Given the description of an element on the screen output the (x, y) to click on. 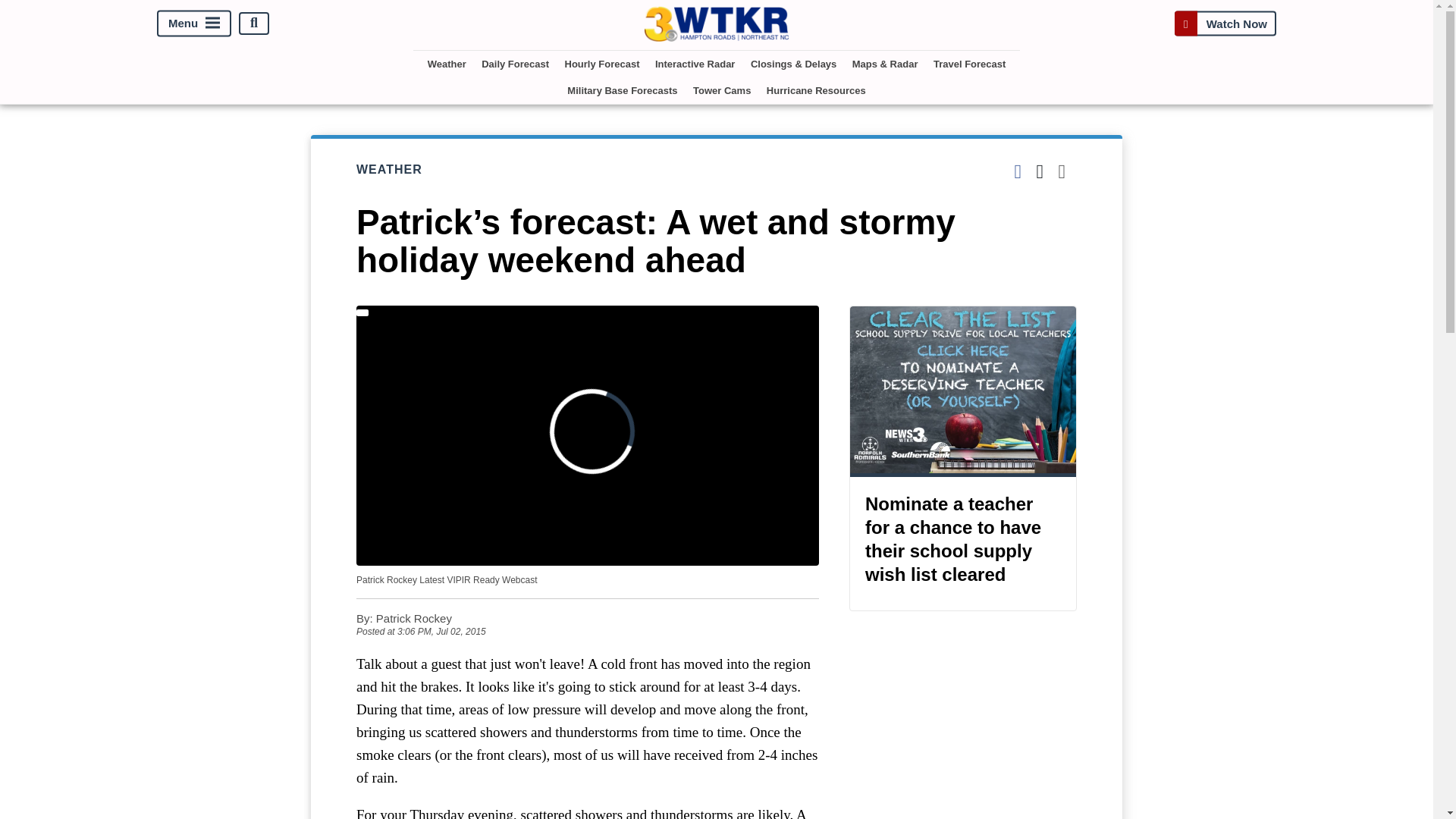
Watch Now (1224, 22)
Menu (194, 22)
